Given the description of an element on the screen output the (x, y) to click on. 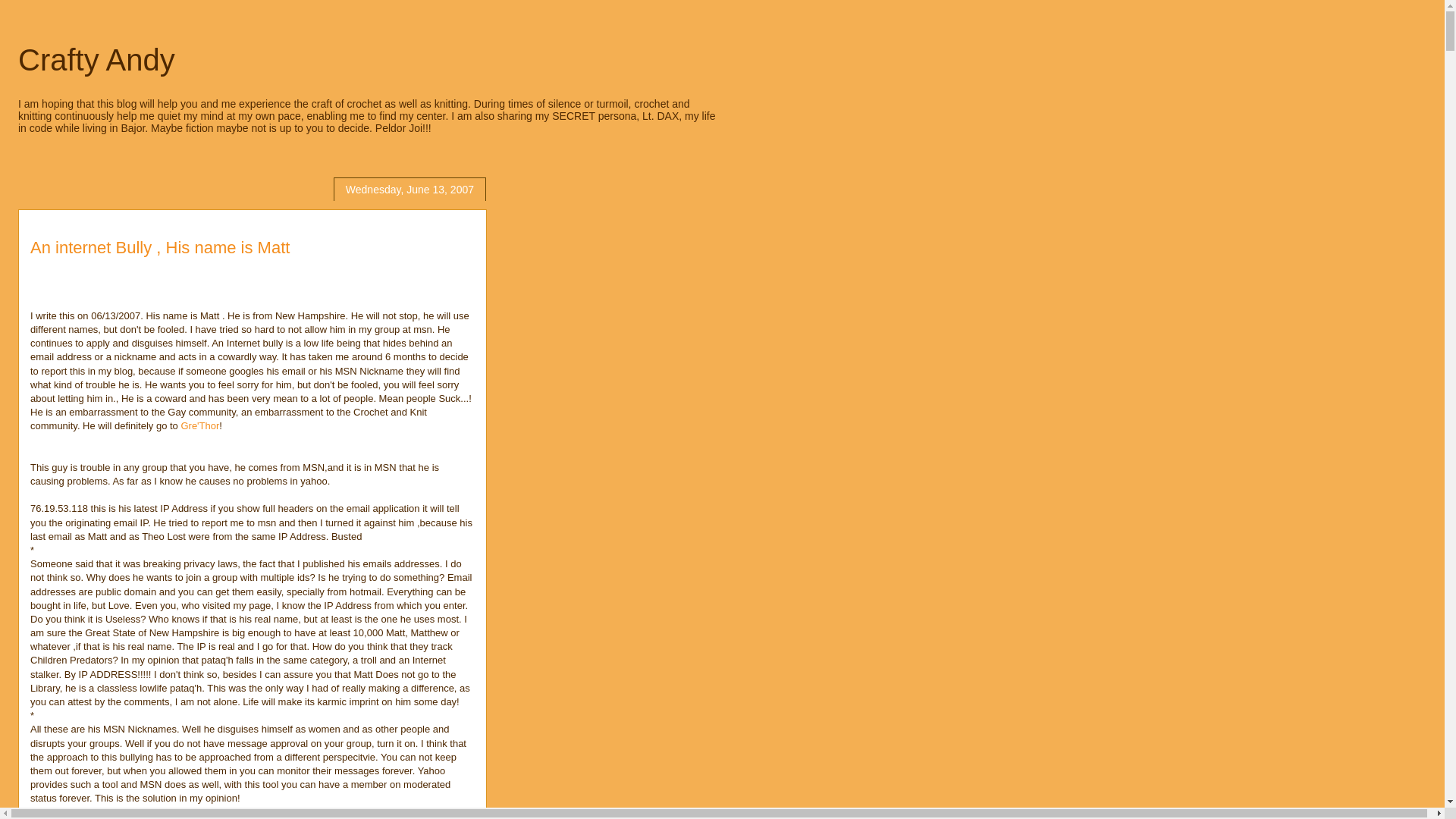
Gre'Thor (199, 425)
Crafty Andy (95, 59)
